Given the description of an element on the screen output the (x, y) to click on. 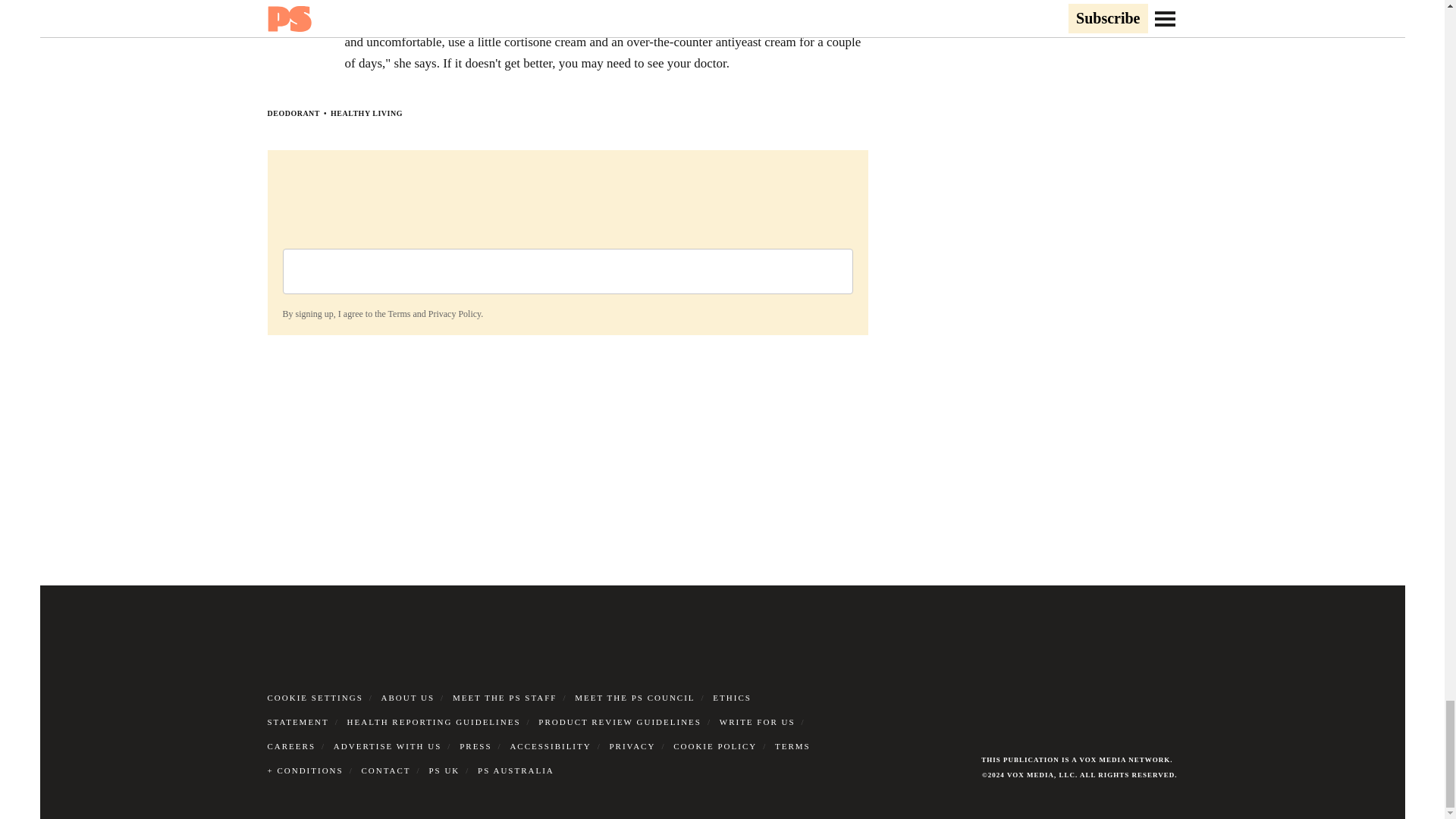
Excess moisture under your arms also contributes to chaffing (501, 20)
HEALTHY LIVING (366, 112)
Privacy Policy. (455, 313)
DEODORANT (293, 112)
Terms (399, 313)
